Given the description of an element on the screen output the (x, y) to click on. 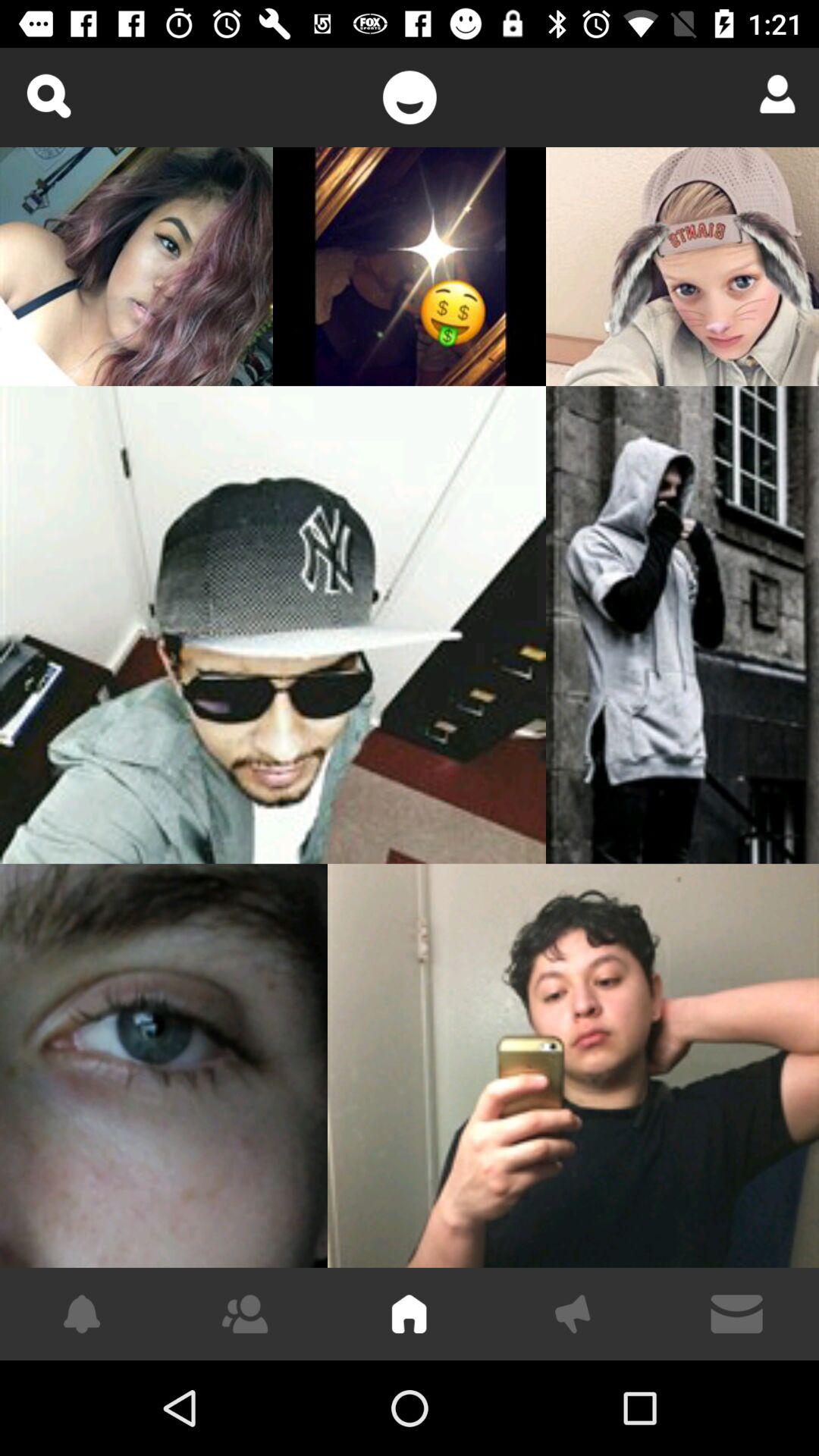
launch the item at the center (273, 624)
